Given the description of an element on the screen output the (x, y) to click on. 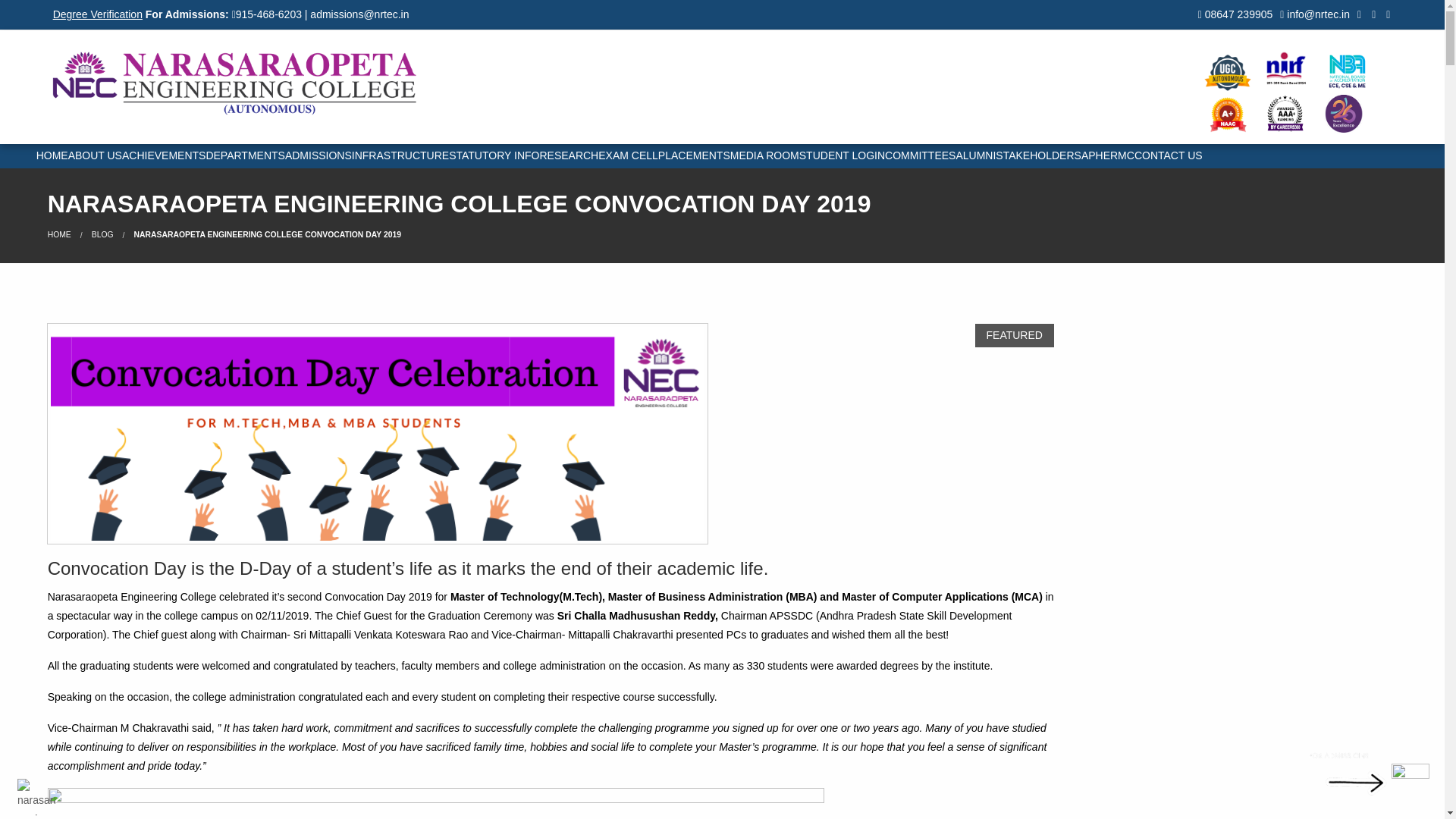
ADMISSIONS (318, 156)
HOME (52, 156)
DEPARTMENTS (245, 156)
Narasaraopeta Engineering College Convocation Day 2019 (267, 234)
ACHIEVEMENTS (163, 156)
Degree Verification (97, 14)
Home (59, 234)
INFRASTRUCTURE (400, 156)
ABOUT US (95, 156)
